Given the description of an element on the screen output the (x, y) to click on. 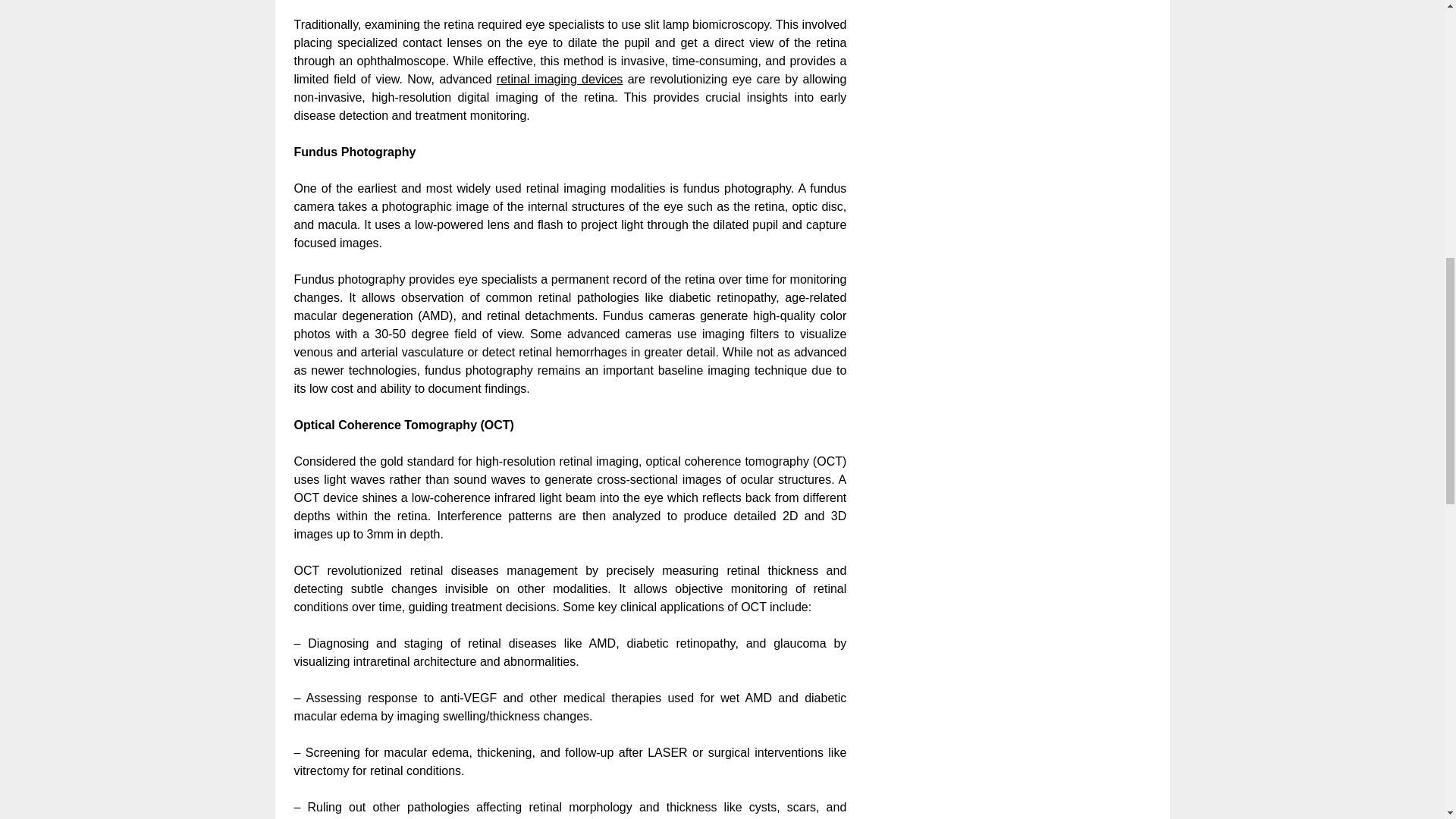
retinal imaging devices (559, 78)
